Given the description of an element on the screen output the (x, y) to click on. 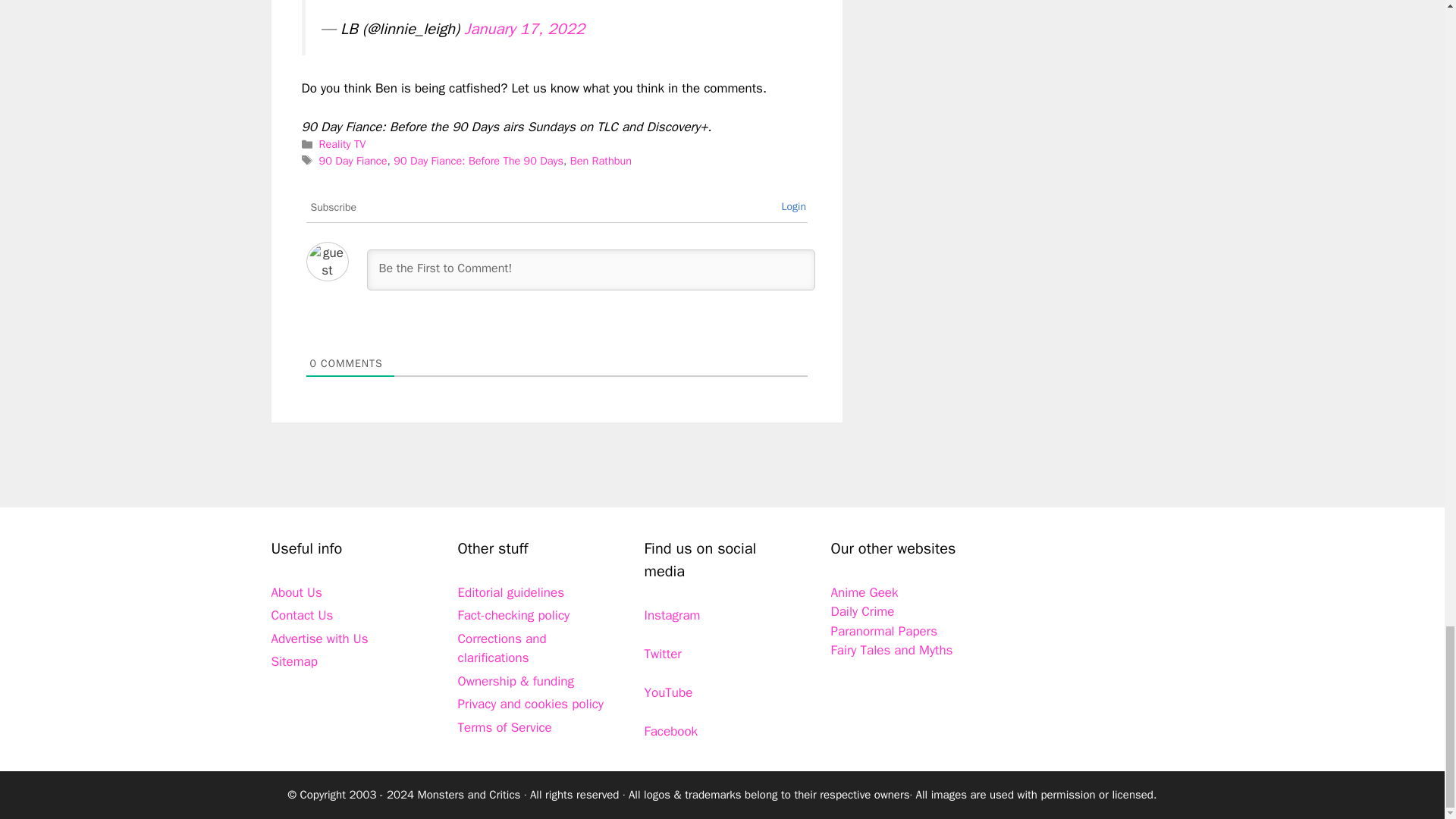
90 Day Fiance (352, 160)
Reality TV (342, 143)
January 17, 2022 (524, 28)
